Given the description of an element on the screen output the (x, y) to click on. 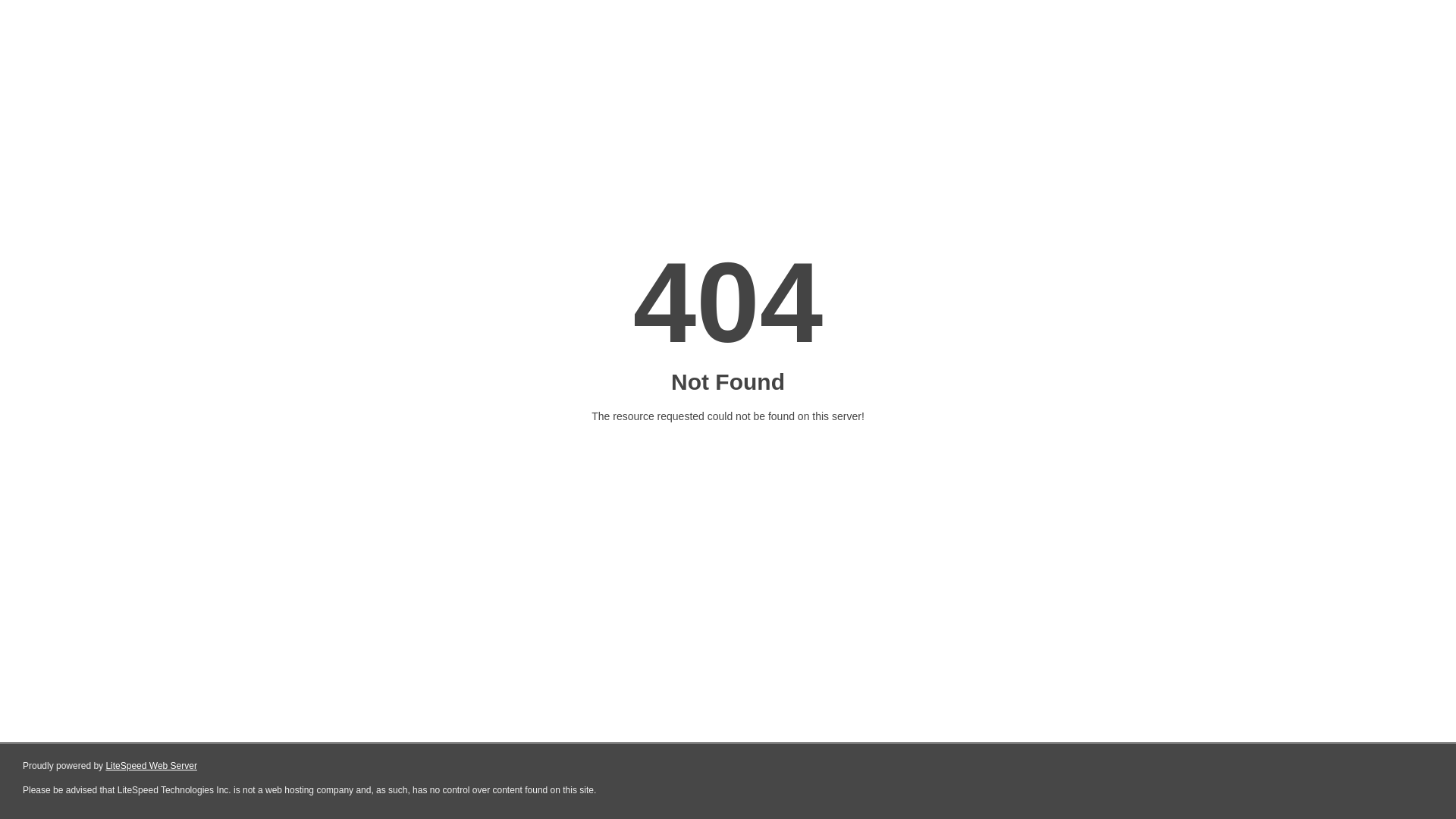
LiteSpeed Web Server Element type: text (151, 765)
